Given the description of an element on the screen output the (x, y) to click on. 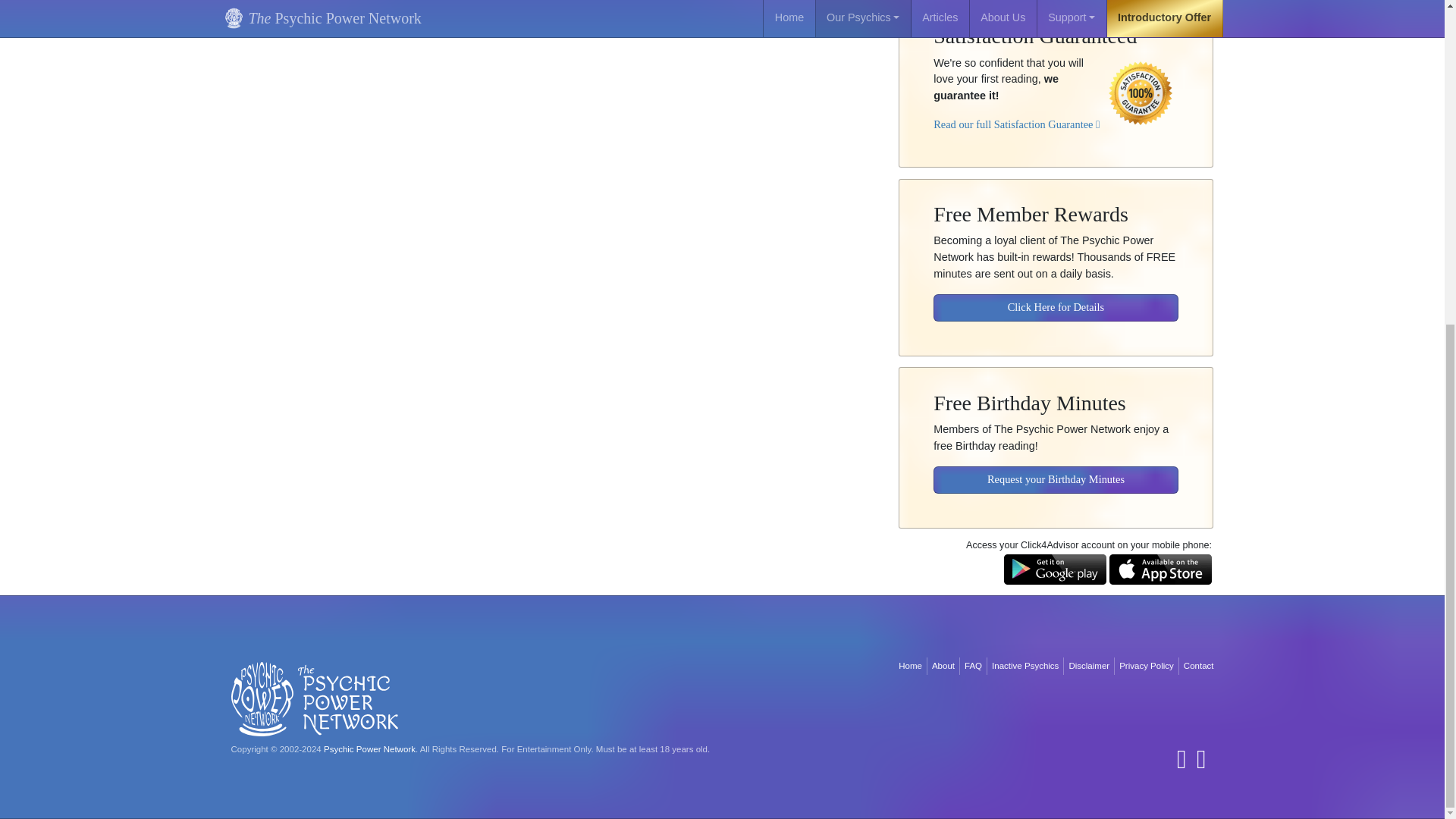
Read our full Satisfaction Guarantee  (1016, 113)
Home (909, 665)
Click Here for Details (1055, 297)
